Given the description of an element on the screen output the (x, y) to click on. 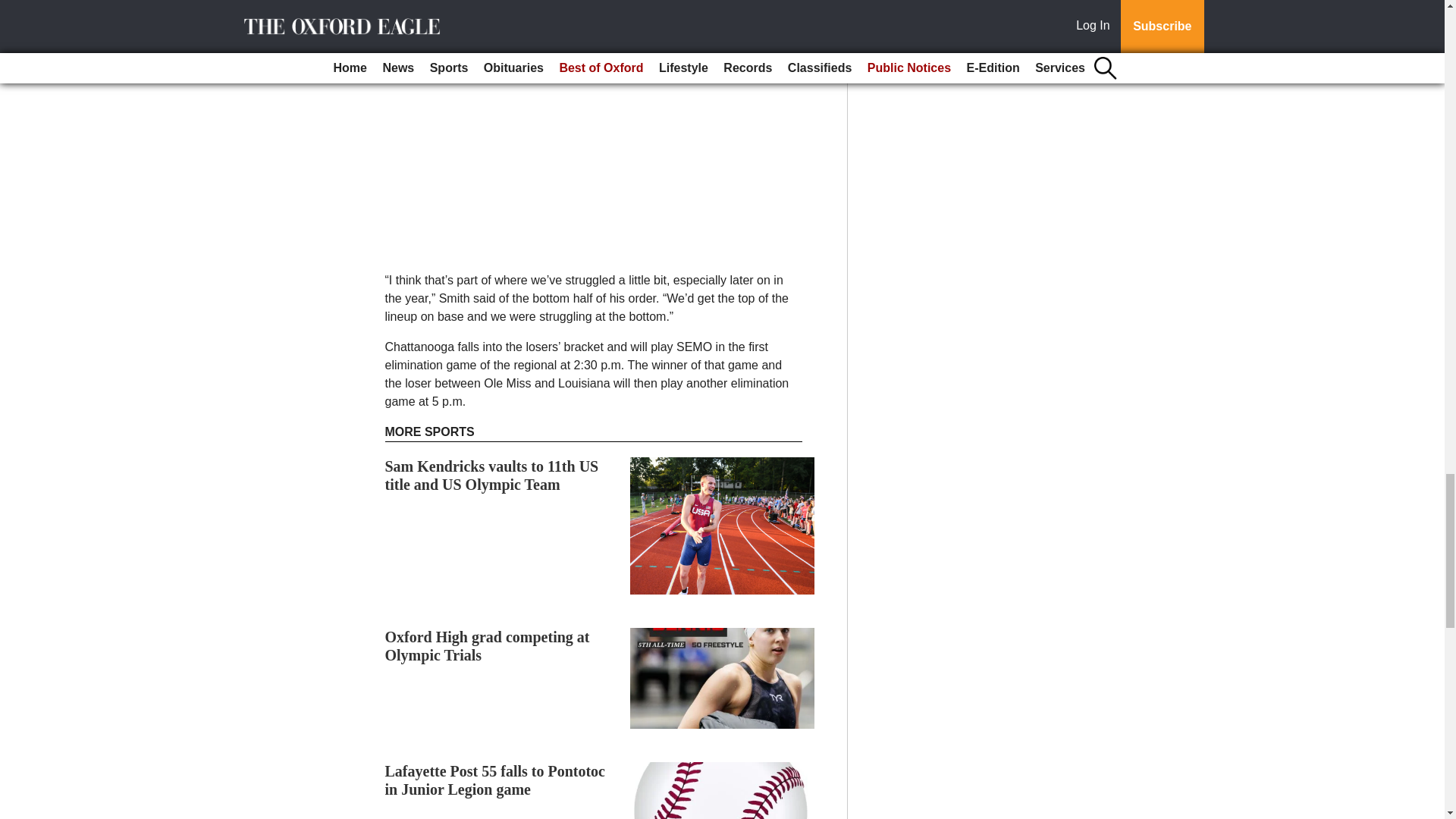
Lafayette Post 55 falls to Pontotoc in Junior Legion game (495, 779)
Oxford High grad competing at Olympic Trials (487, 645)
Lafayette Post 55 falls to Pontotoc in Junior Legion game (495, 779)
Sam Kendricks vaults to 11th US title and US Olympic Team (491, 475)
Oxford High grad competing at Olympic Trials (487, 645)
Sam Kendricks vaults to 11th US title and US Olympic Team (491, 475)
